Given the description of an element on the screen output the (x, y) to click on. 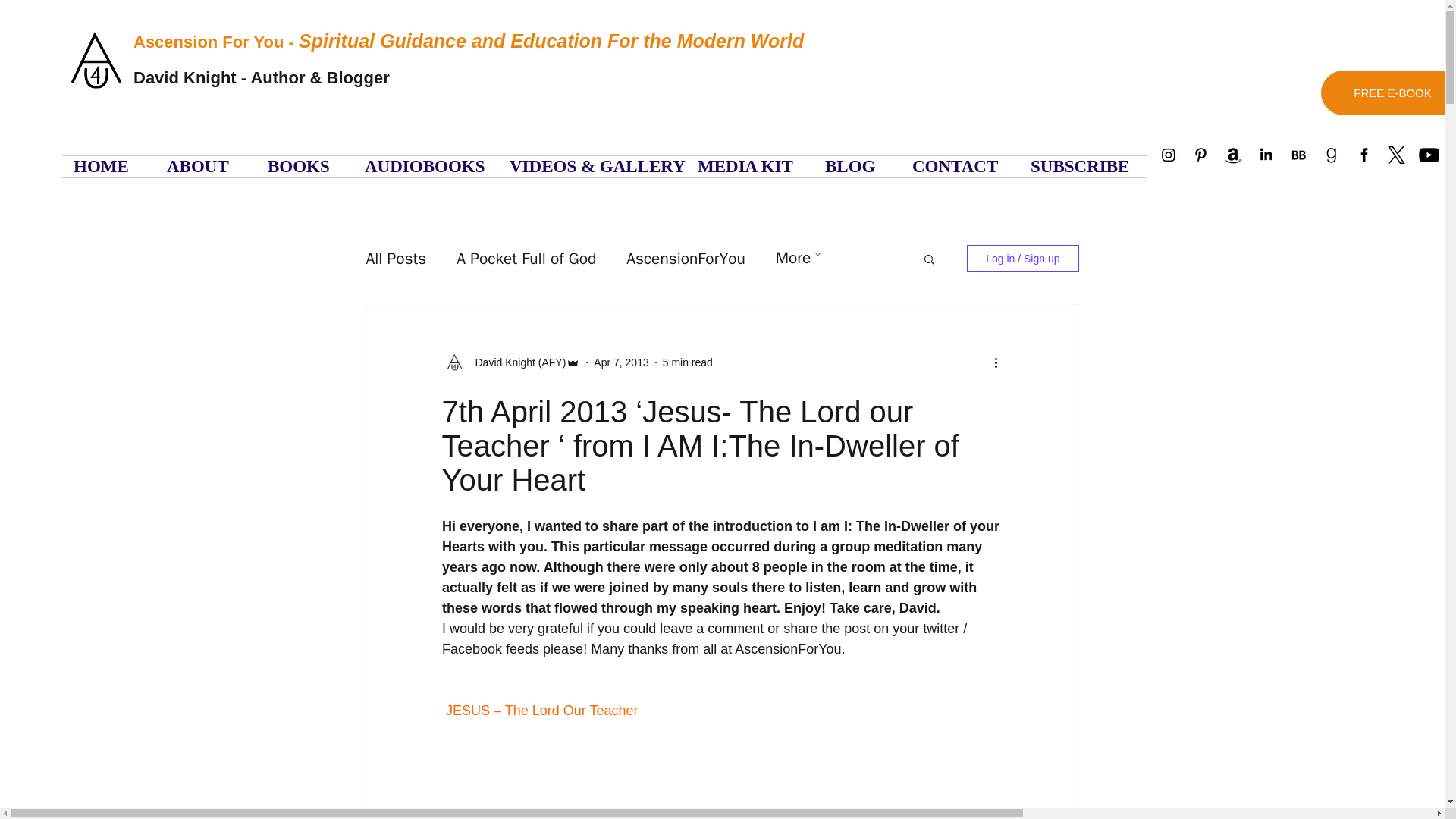
SUBSCRIBE (1083, 166)
Apr 7, 2013 (620, 362)
AscensionForYou (685, 258)
FREE E-BOOK (1388, 92)
All Posts (395, 258)
BLOG (857, 166)
BOOKS (304, 166)
5 min read (687, 362)
HOME (108, 166)
CONTACT (960, 166)
